Given the description of an element on the screen output the (x, y) to click on. 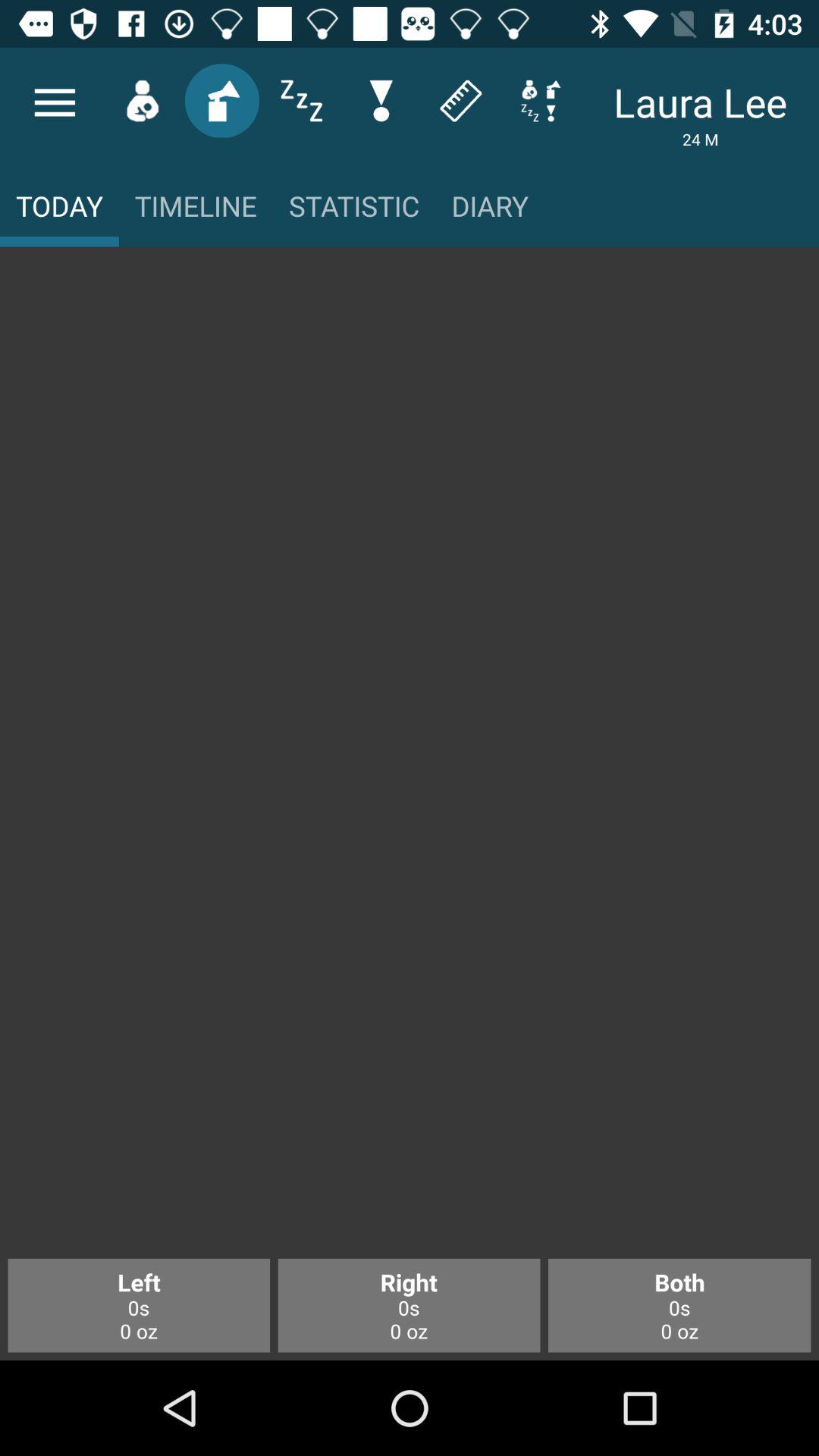
open icon at the center (409, 760)
